Given the description of an element on the screen output the (x, y) to click on. 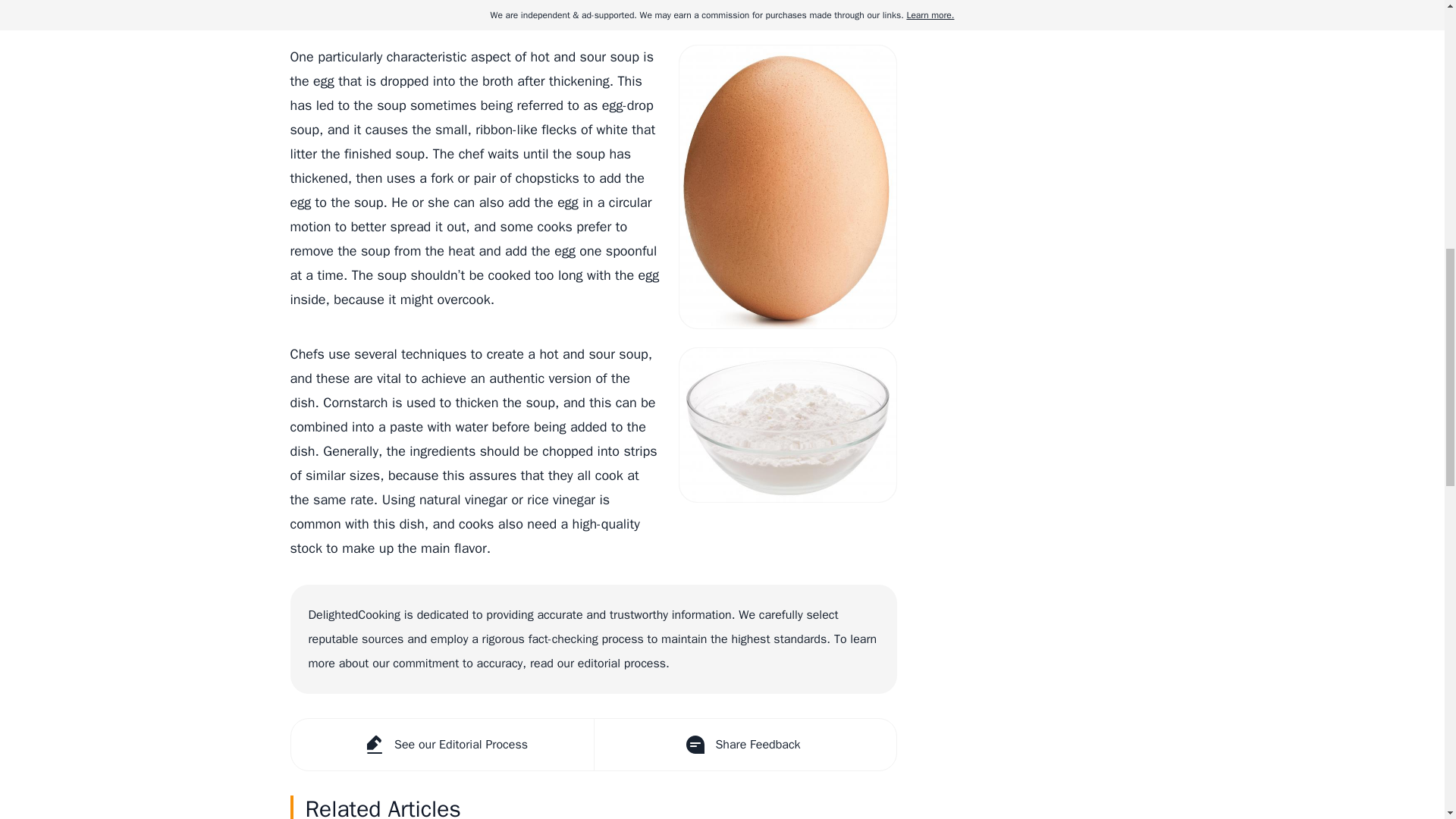
Share Feedback (743, 744)
See our Editorial Process (442, 744)
chili (330, 5)
